Given the description of an element on the screen output the (x, y) to click on. 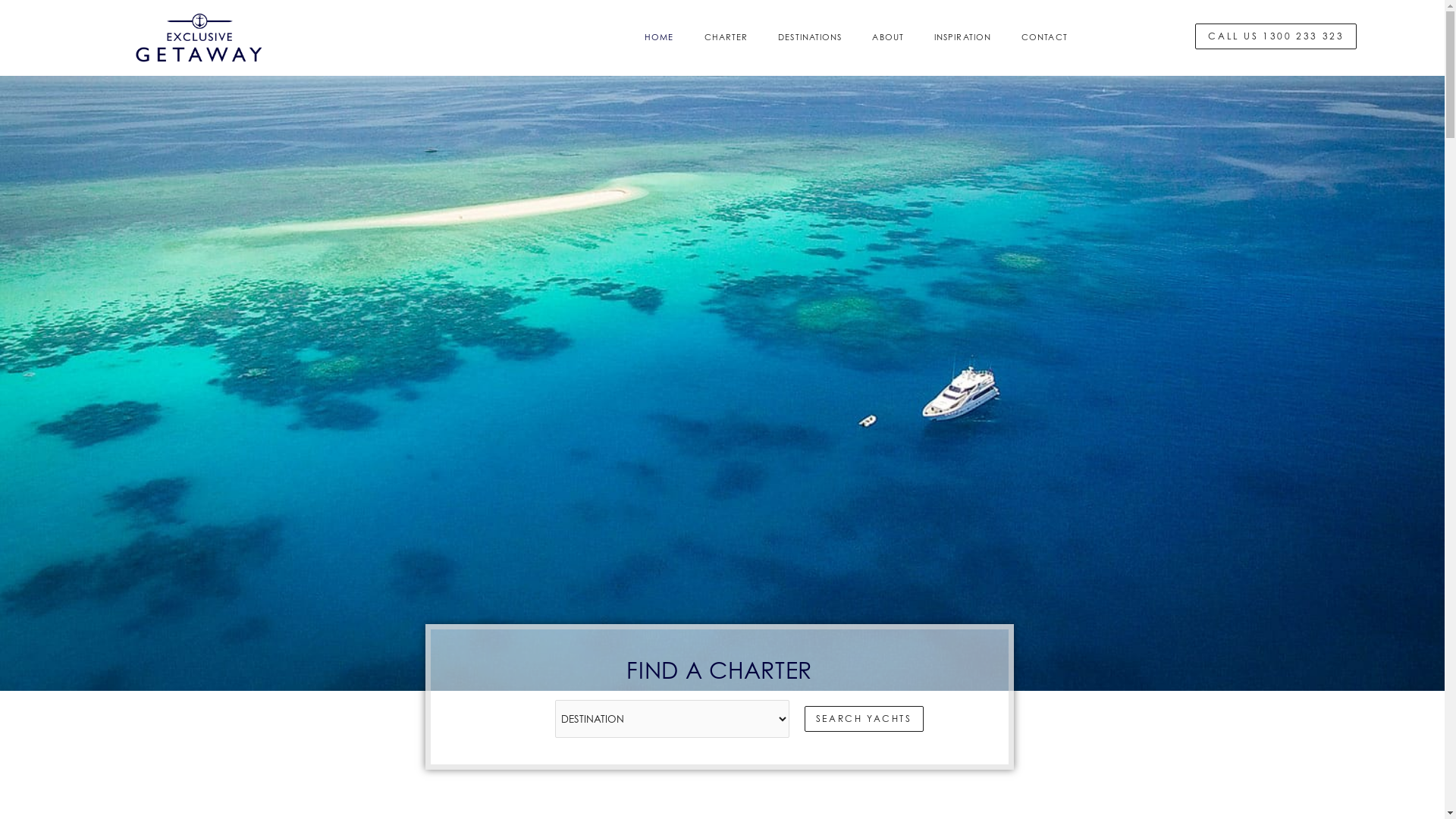
INSPIRATION Element type: text (962, 62)
DESTINATIONS Element type: text (809, 62)
CALL US 1300 233 323 Element type: text (1275, 62)
HOME Element type: text (658, 62)
CONTACT Element type: text (1044, 62)
ABOUT Element type: text (887, 62)
CHARTER Element type: text (726, 62)
Search Yachts Element type: text (863, 770)
